Given the description of an element on the screen output the (x, y) to click on. 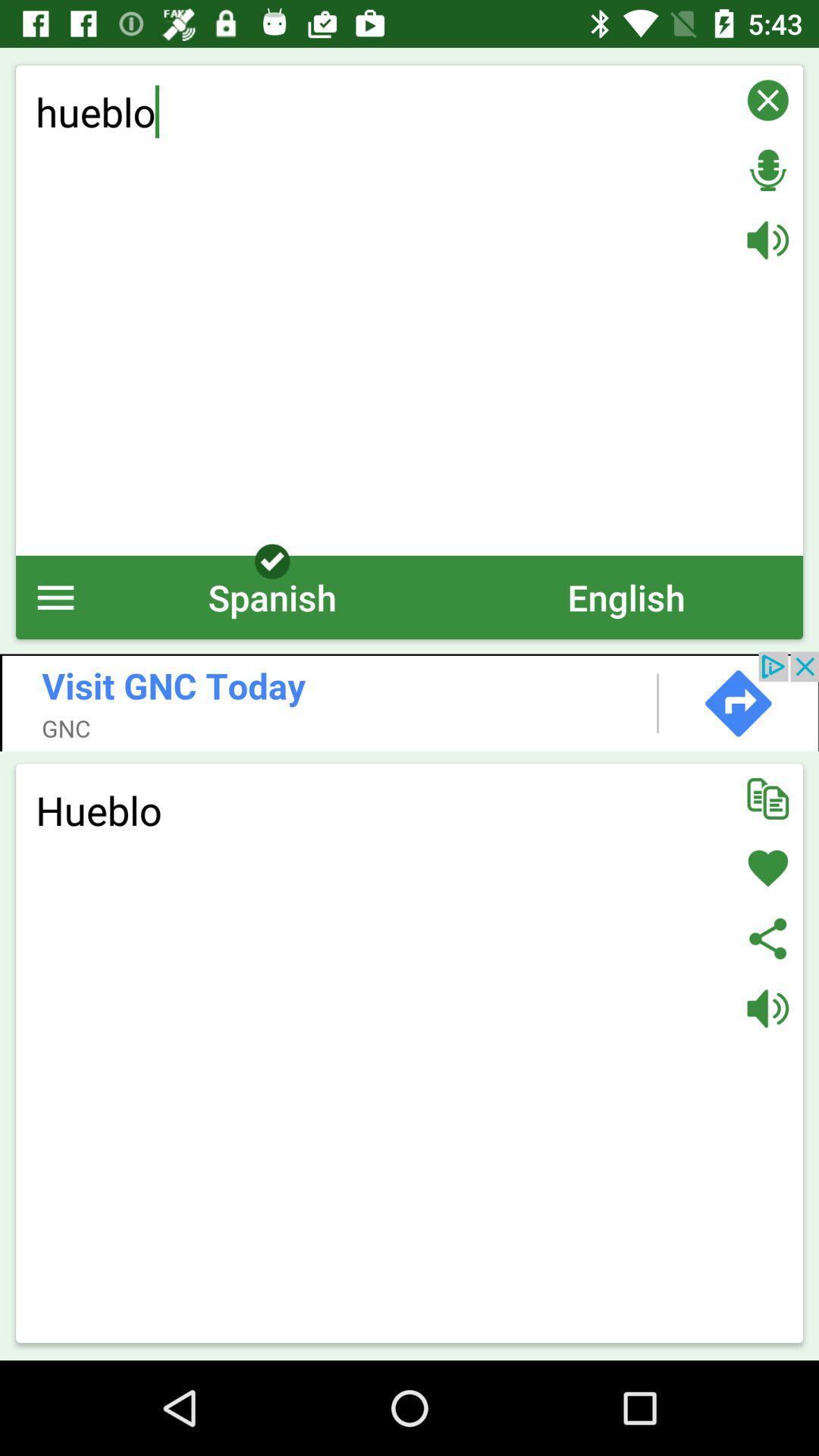
turn on english (626, 597)
